Given the description of an element on the screen output the (x, y) to click on. 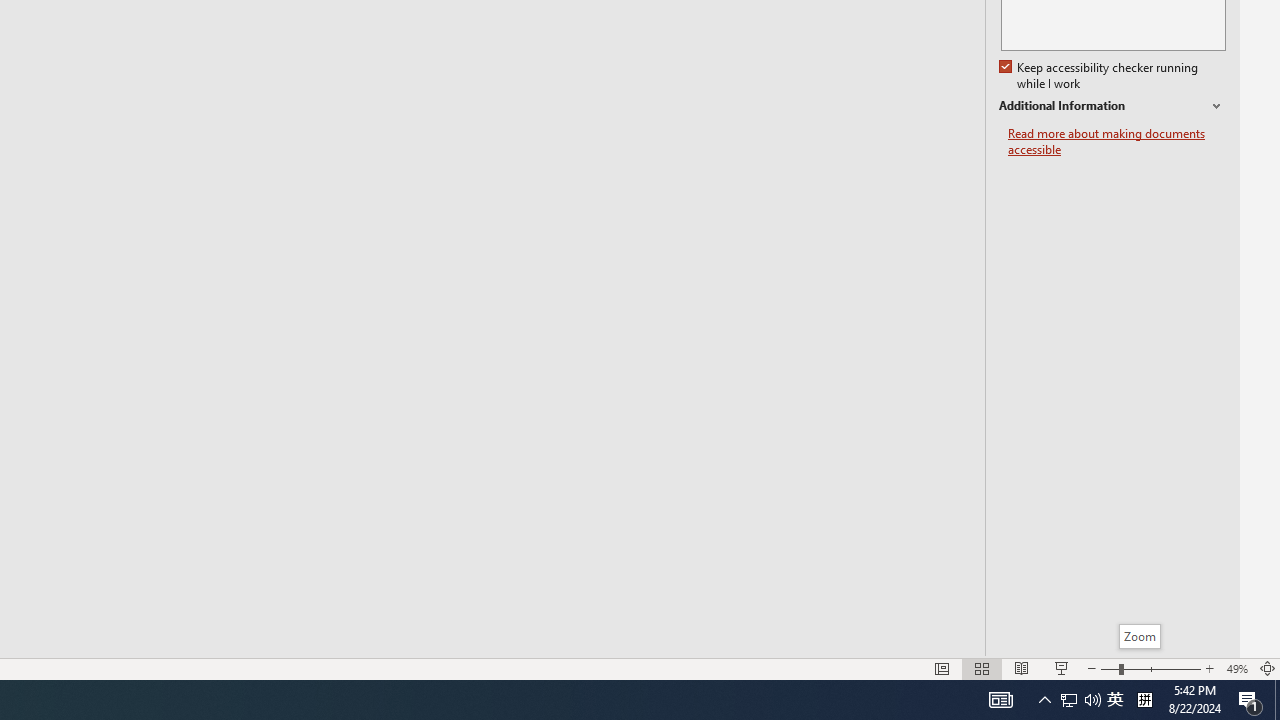
Zoom 49% (1236, 668)
